Given the description of an element on the screen output the (x, y) to click on. 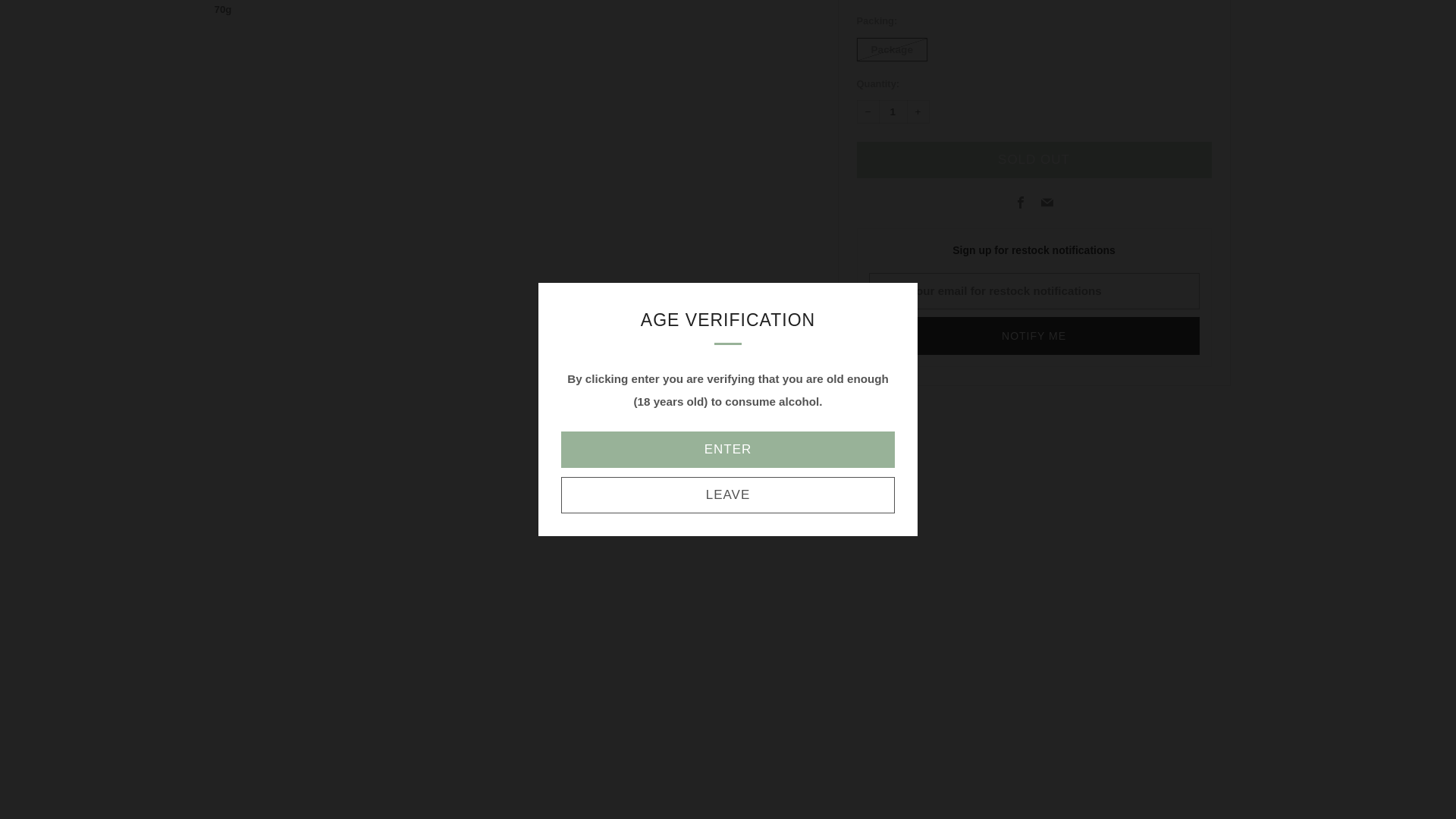
Page 4 (513, 10)
